Given the description of an element on the screen output the (x, y) to click on. 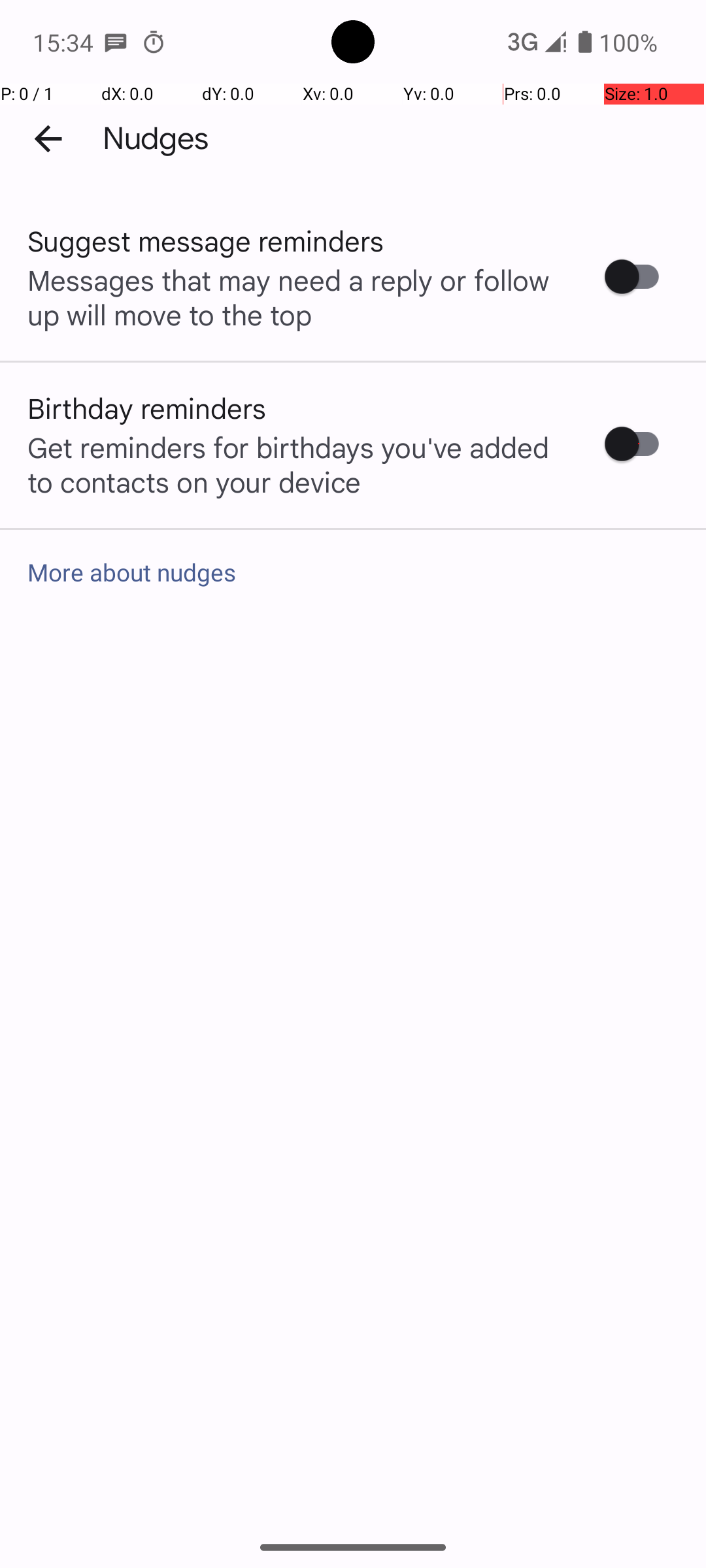
Nudges Element type: android.widget.TextView (155, 138)
More about nudges Element type: android.widget.TextView (353, 571)
Suggest message reminders Element type: android.widget.TextView (205, 240)
Messages that may need a reply or follow up will move to the top Element type: android.widget.TextView (299, 296)
Birthday reminders Element type: android.widget.TextView (146, 407)
Get reminders for birthdays you've added to contacts on your device Element type: android.widget.TextView (299, 463)
